Given the description of an element on the screen output the (x, y) to click on. 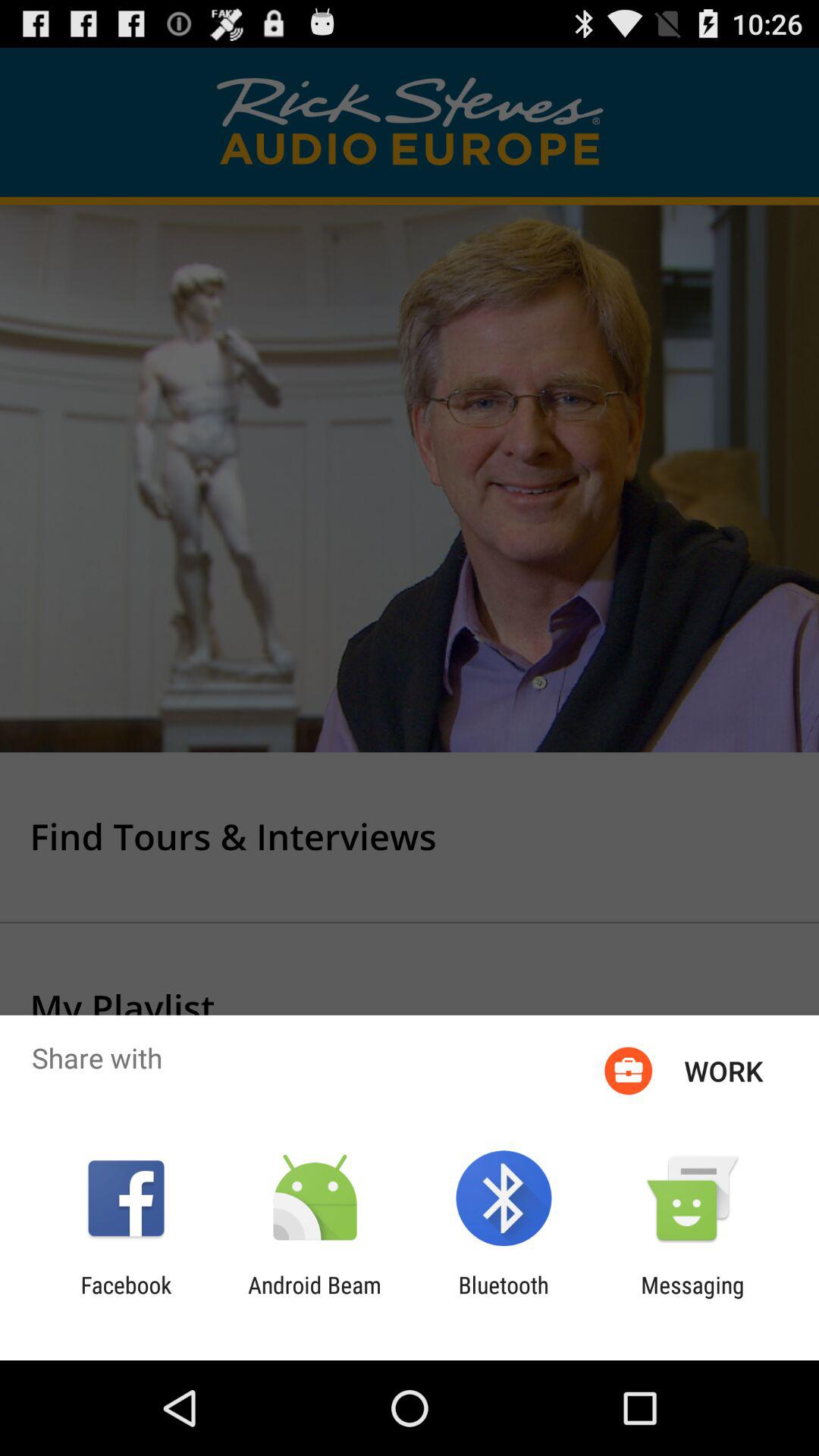
tap the item to the right of android beam item (503, 1298)
